Given the description of an element on the screen output the (x, y) to click on. 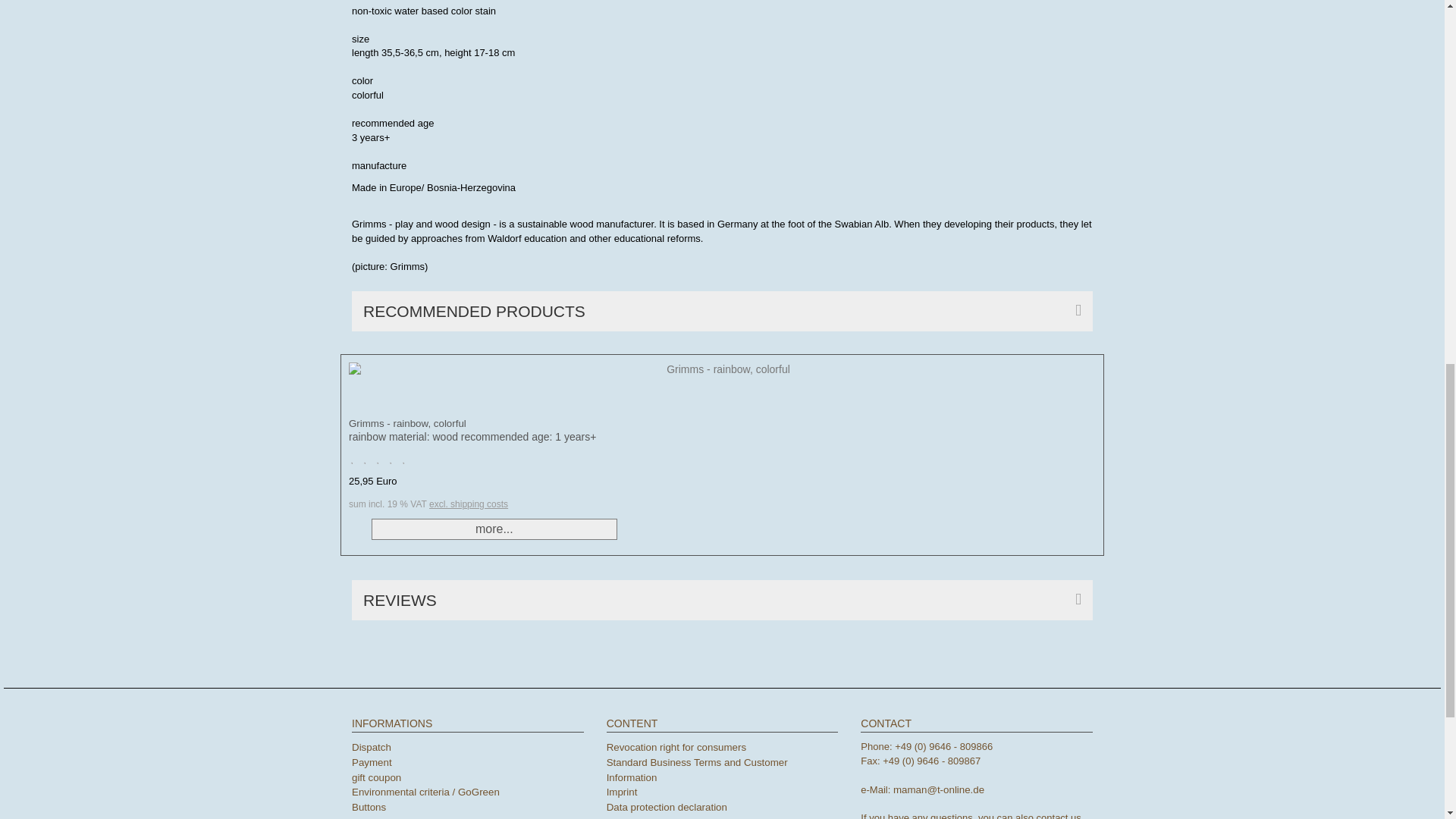
Payment (371, 762)
Revocation right for consumers (676, 747)
excl. shipping costs (468, 503)
Buttons (368, 807)
Dispatch (371, 747)
Data protection declaration (666, 807)
more... (494, 528)
Grimms - rainbow, colorful (407, 423)
Standard Business Terms and Customer Information (697, 769)
gift coupon (376, 777)
